Given the description of an element on the screen output the (x, y) to click on. 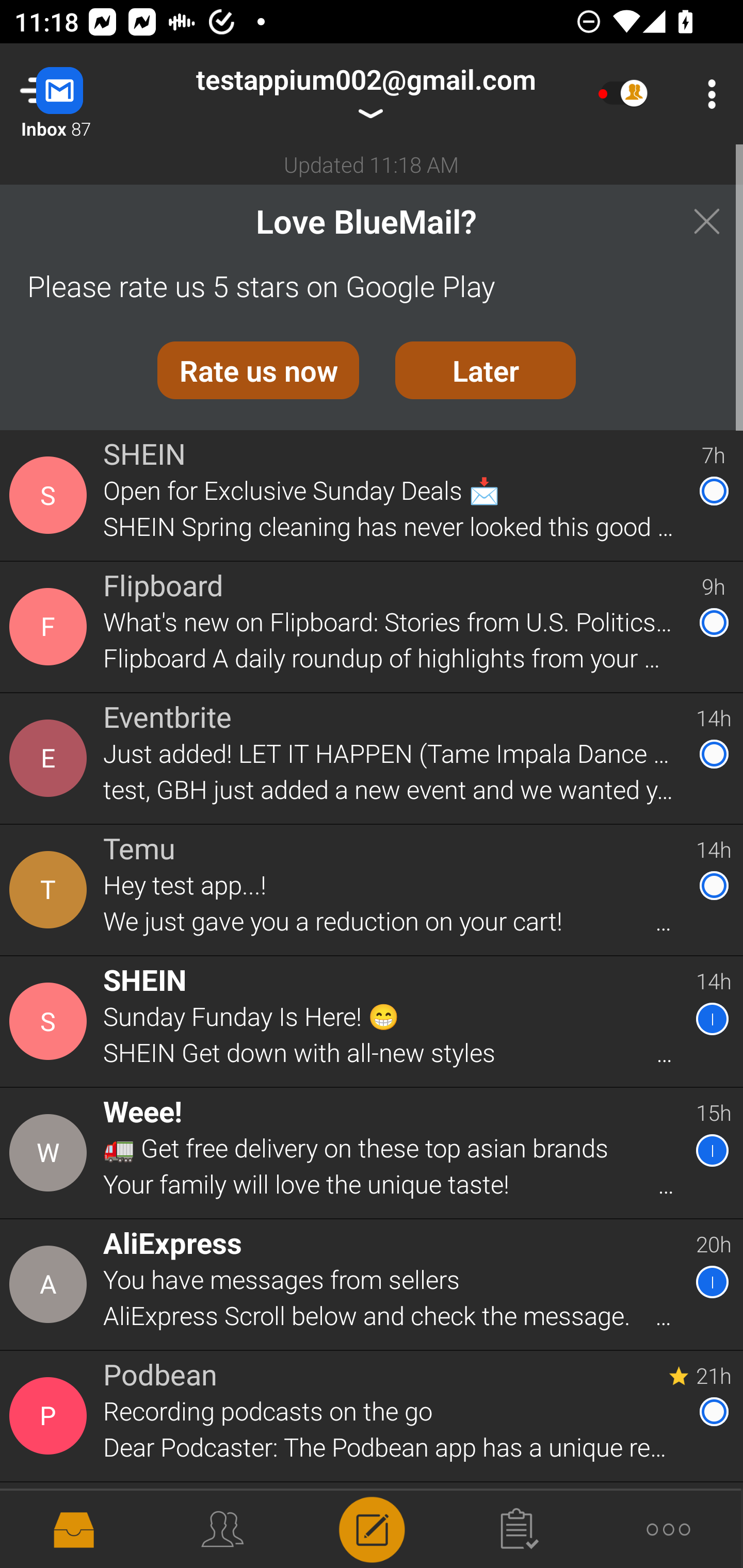
Navigate up (81, 93)
testappium002@gmail.com (365, 93)
More Options (706, 93)
Updated 11:18 AM (371, 164)
Rate us now (257, 370)
Later (485, 370)
Contact Details (50, 495)
Contact Details (50, 626)
Contact Details (50, 758)
Contact Details (50, 889)
Contact Details (50, 1021)
Contact Details (50, 1153)
Contact Details (50, 1284)
Contact Details (50, 1416)
Compose (371, 1528)
